Given the description of an element on the screen output the (x, y) to click on. 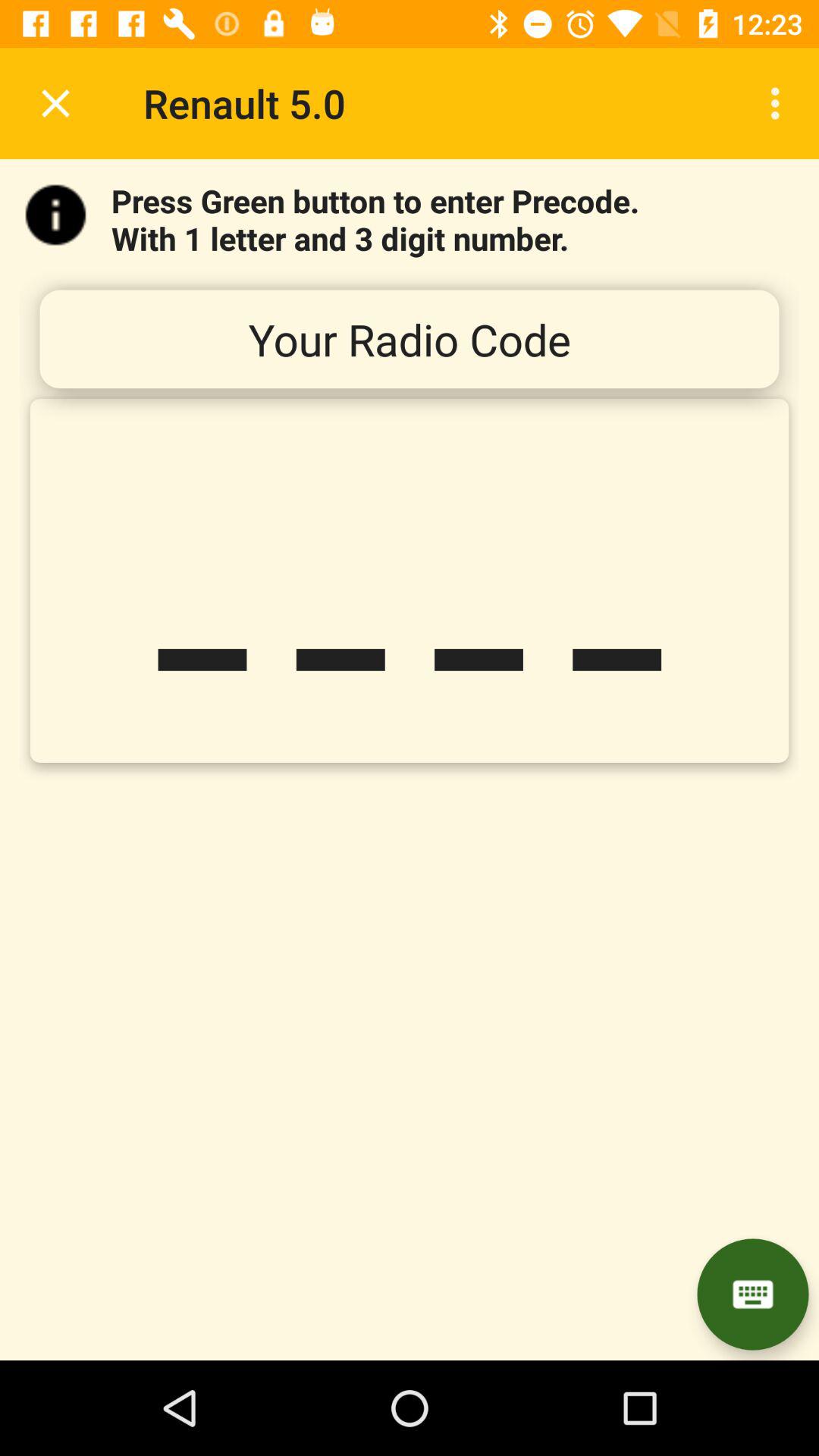
press the keyboard option (752, 1294)
